Given the description of an element on the screen output the (x, y) to click on. 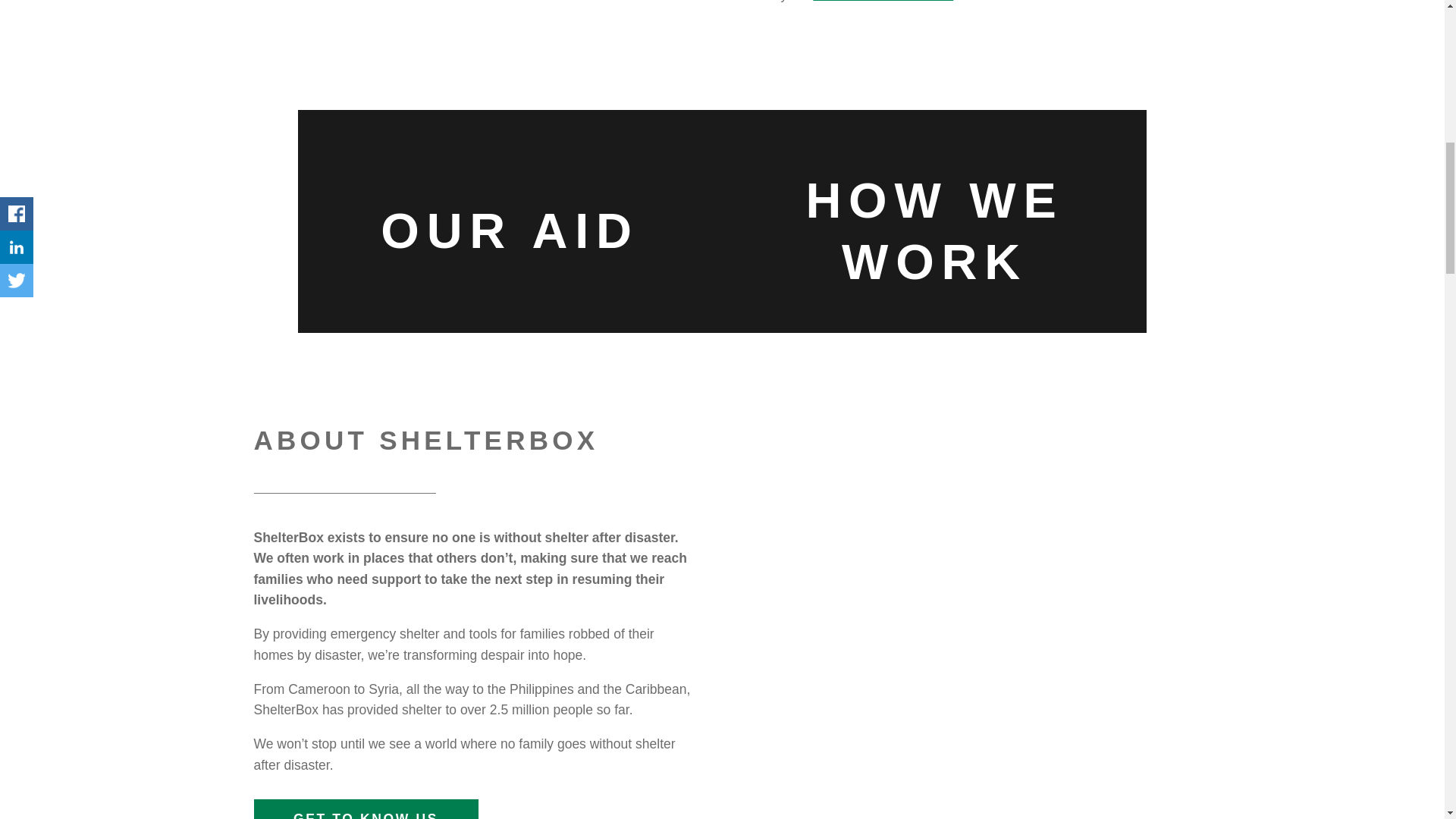
Find out more about us. (882, 1)
We are ShelterBox Australia (942, 651)
GET TO KNOW US (365, 809)
